Given the description of an element on the screen output the (x, y) to click on. 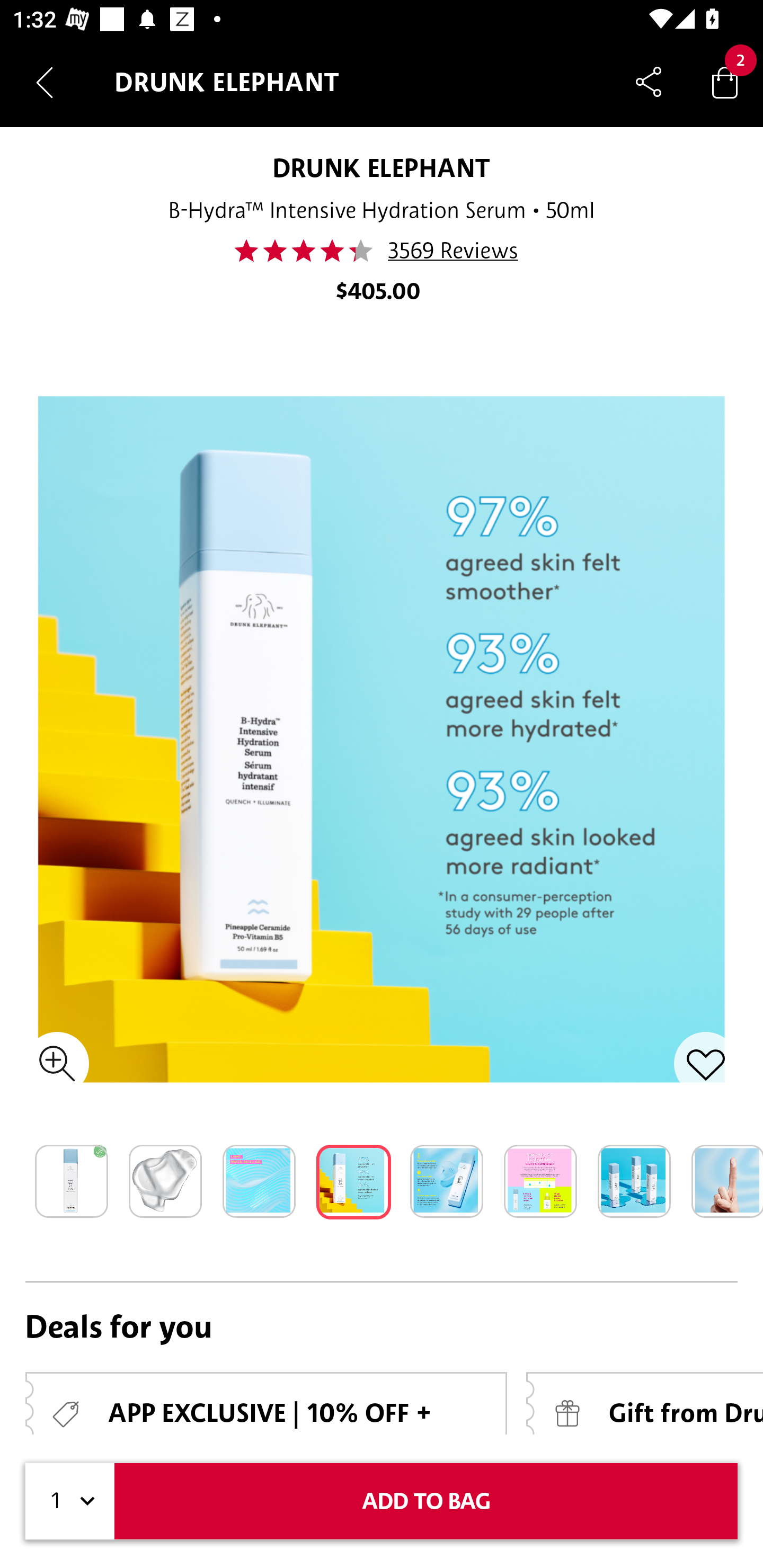
Navigate up (44, 82)
Share (648, 81)
Bag (724, 81)
DRUNK ELEPHANT (381, 167)
43.0 3569 Reviews (381, 250)
1 (69, 1500)
ADD TO BAG (425, 1500)
